Given the description of an element on the screen output the (x, y) to click on. 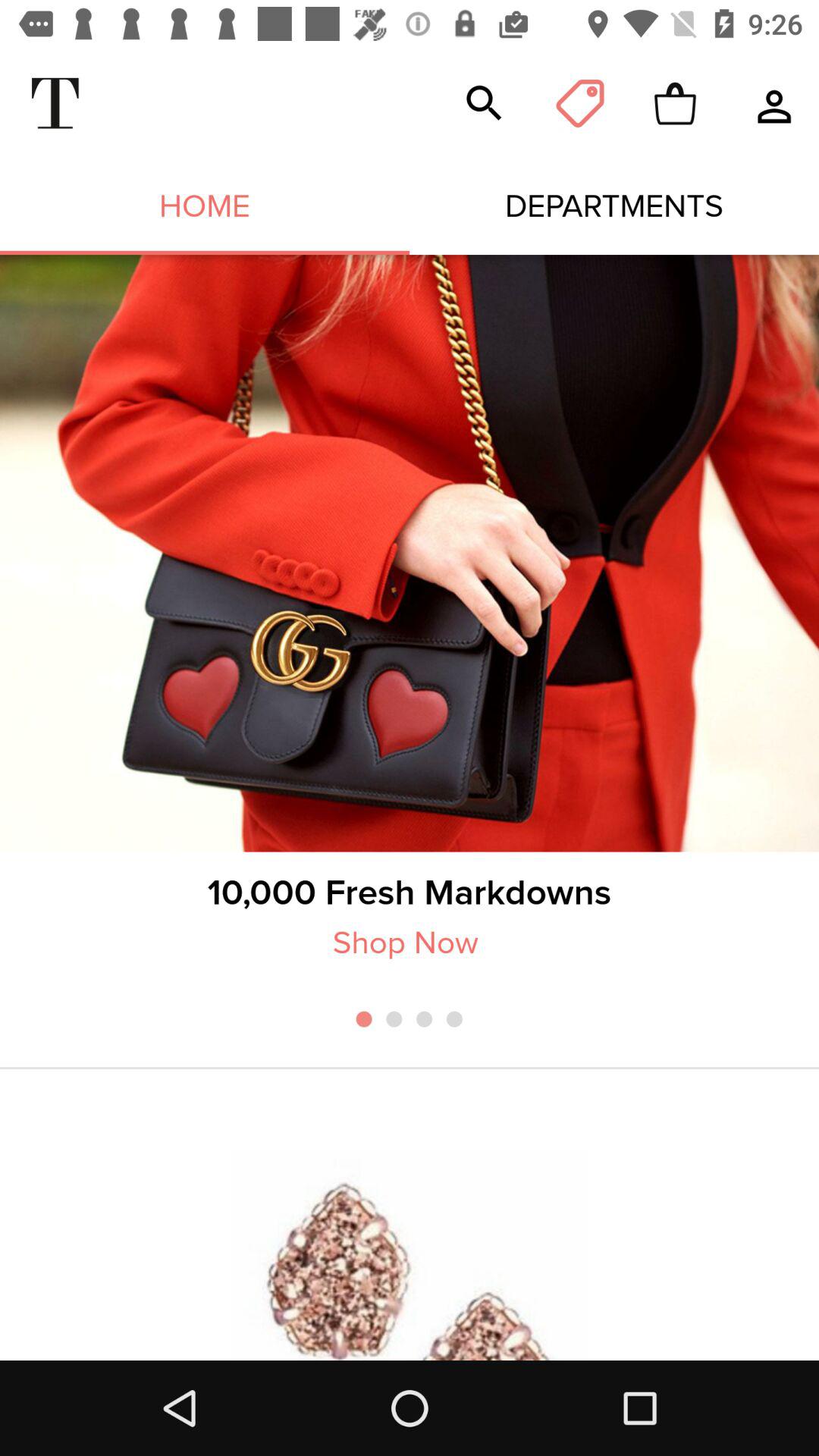
open item above departments (579, 103)
